Given the description of an element on the screen output the (x, y) to click on. 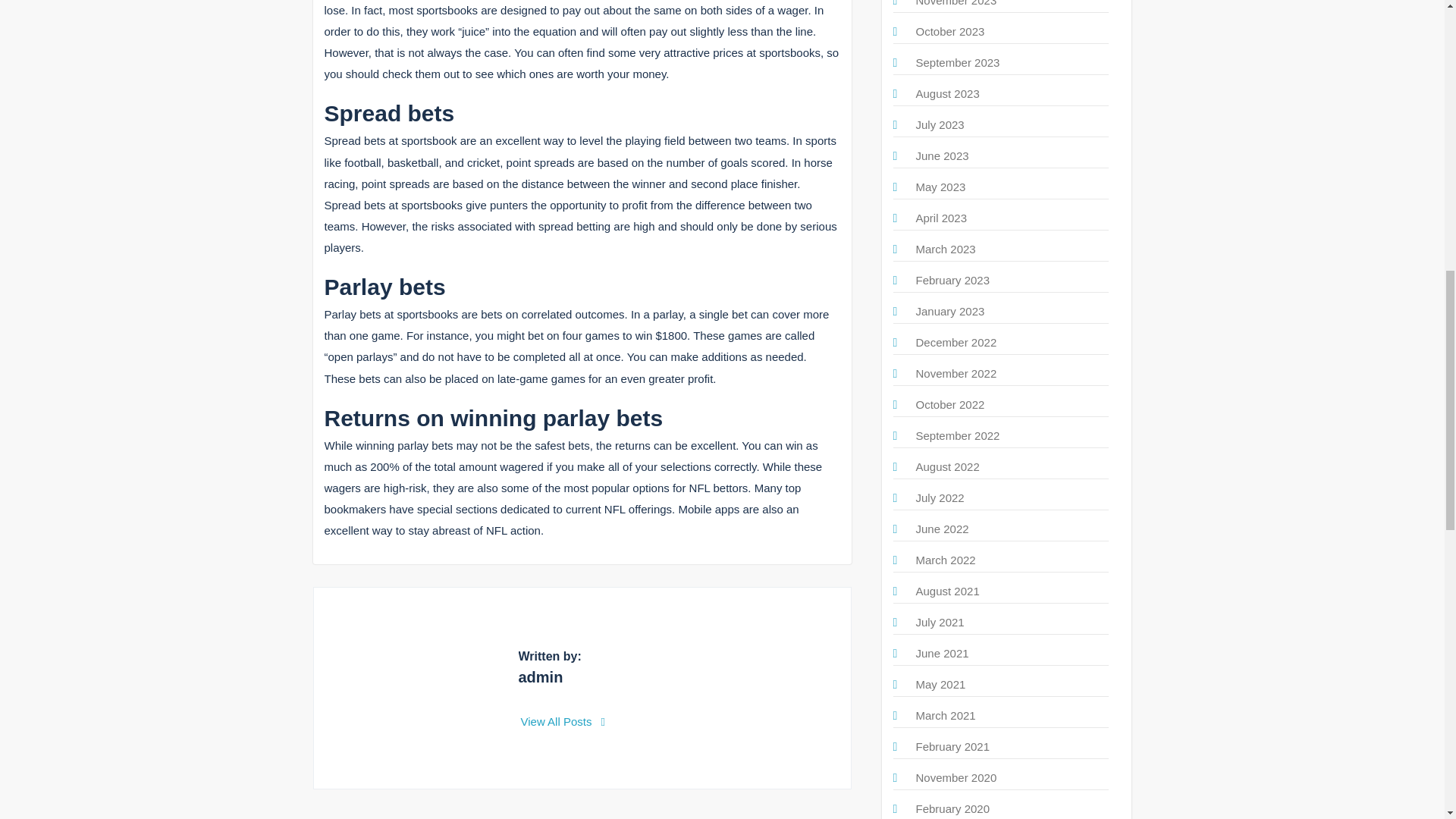
July 2022 (939, 497)
August 2023 (947, 92)
August 2022 (947, 466)
September 2023 (957, 62)
June 2022 (942, 528)
View All Posts (562, 721)
November 2023 (956, 3)
January 2023 (950, 310)
February 2023 (952, 279)
June 2023 (942, 155)
October 2023 (950, 31)
November 2022 (956, 373)
December 2022 (956, 341)
September 2022 (957, 435)
March 2022 (945, 559)
